Given the description of an element on the screen output the (x, y) to click on. 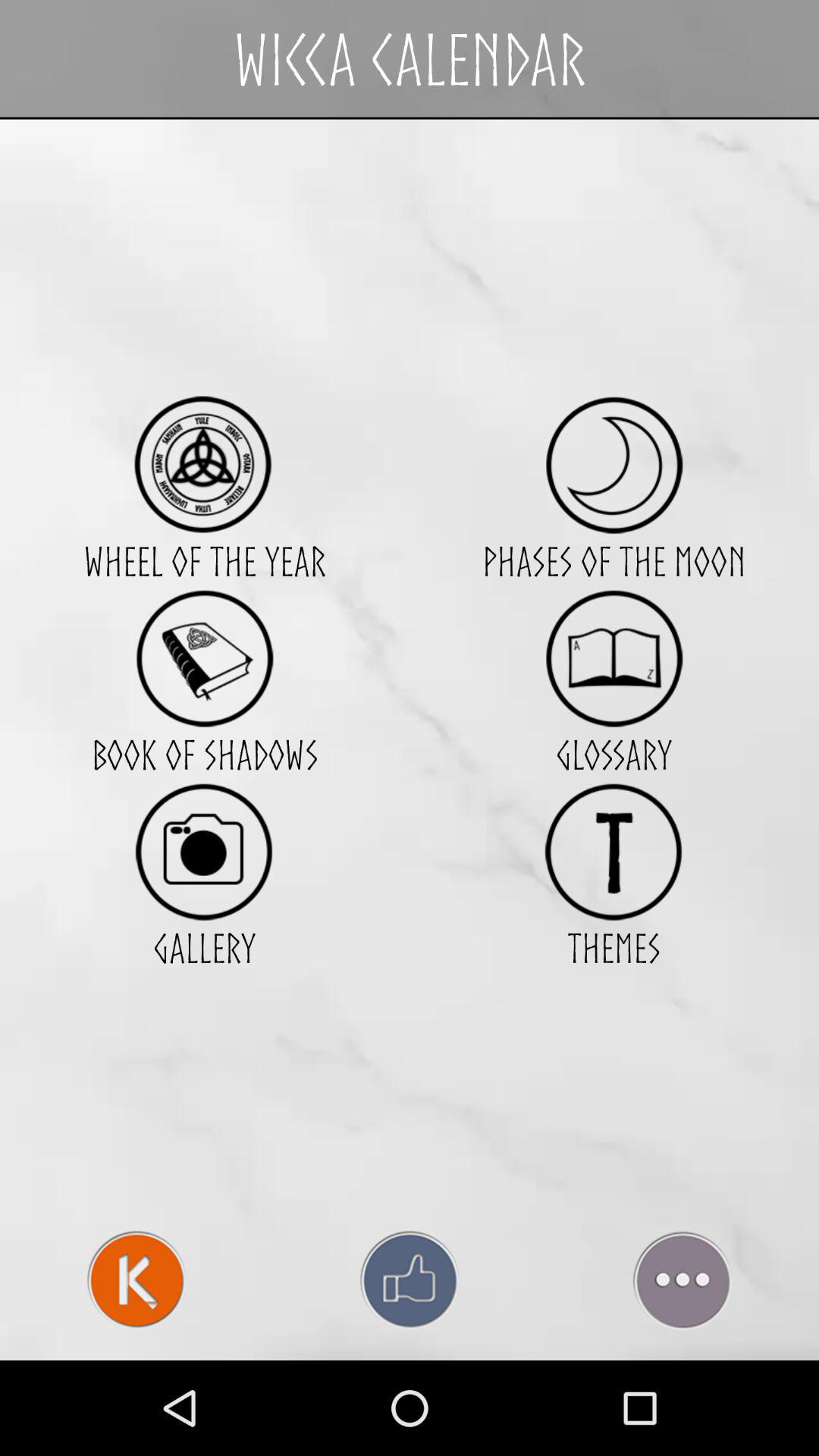
turn on the item next to the glossary item (204, 851)
